Given the description of an element on the screen output the (x, y) to click on. 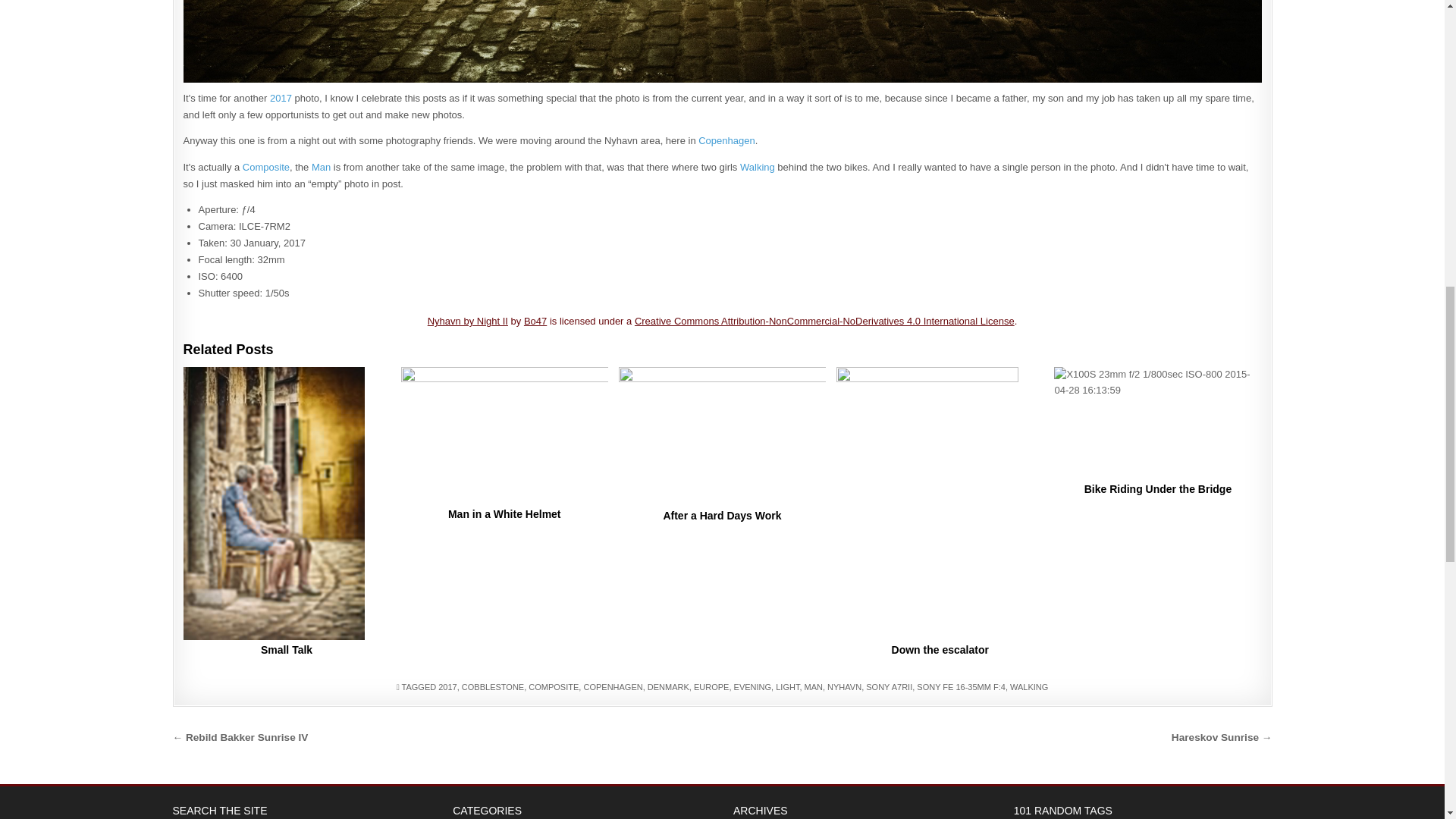
Posts tagged with Man (320, 166)
Posts tagged with Walking (756, 166)
Bike Riding Under the Bridge (1157, 489)
Composite (266, 166)
Man (320, 166)
DENMARK (667, 686)
Walking (756, 166)
Copenhagen (726, 140)
Man in a White Helmet (504, 513)
After a Hard Days Work (721, 515)
Posts tagged with Copenhagen (726, 140)
Down the escalator (939, 649)
Nyhavn by Night II (468, 320)
Permanent Link to Man in a White Helmet (504, 435)
COMPOSITE (553, 686)
